Given the description of an element on the screen output the (x, y) to click on. 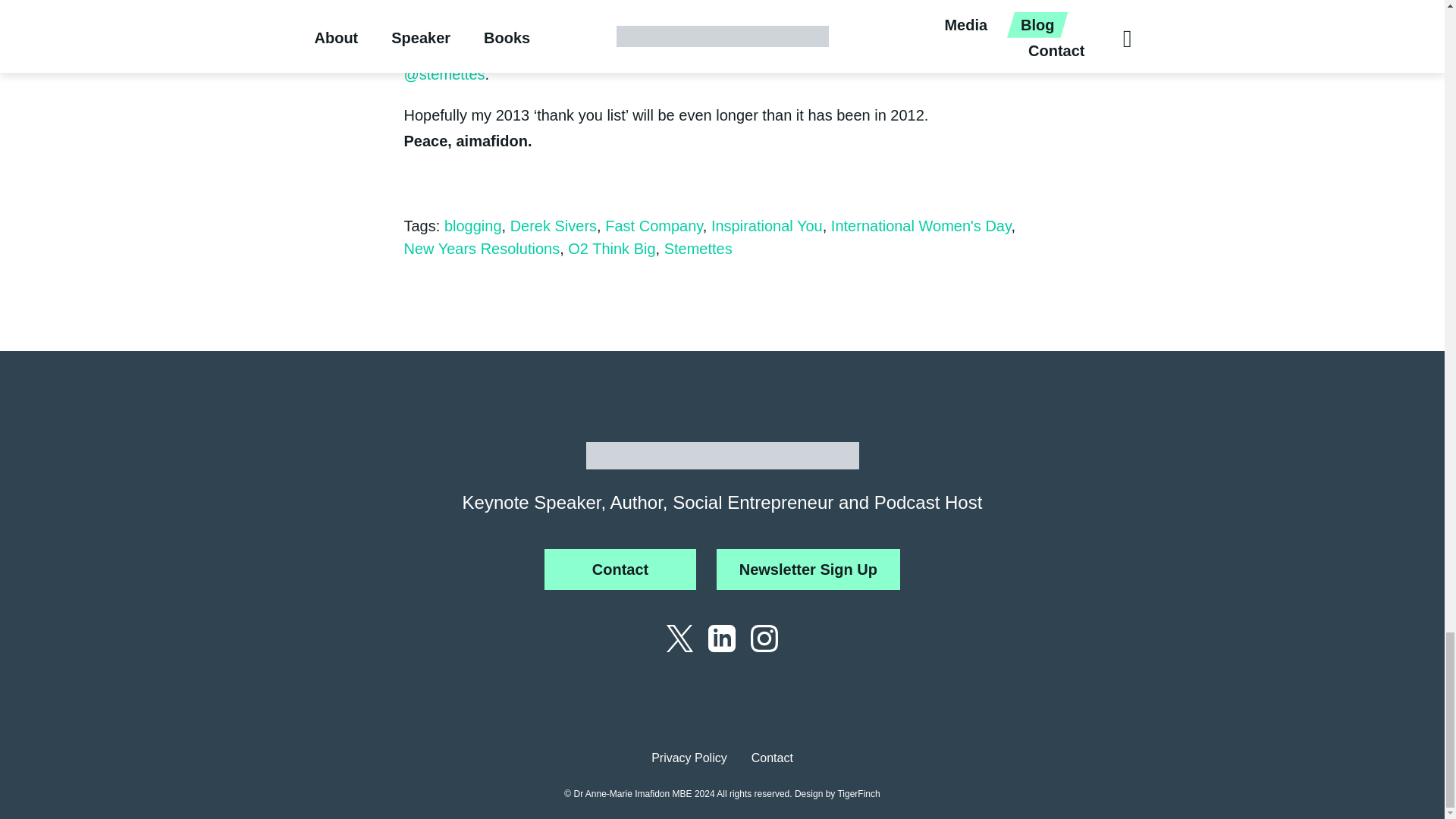
Derek Sivers (553, 225)
O2 Think Big (611, 248)
Newsletter Sign Up (807, 568)
blogging (473, 225)
Inspirational You (766, 225)
Dr Anne-Marie Imafidon MBE (722, 455)
International Women's Day (921, 225)
Fast Company (654, 225)
New Years Resolutions (481, 248)
Stemettes (697, 248)
Contact (619, 568)
